Given the description of an element on the screen output the (x, y) to click on. 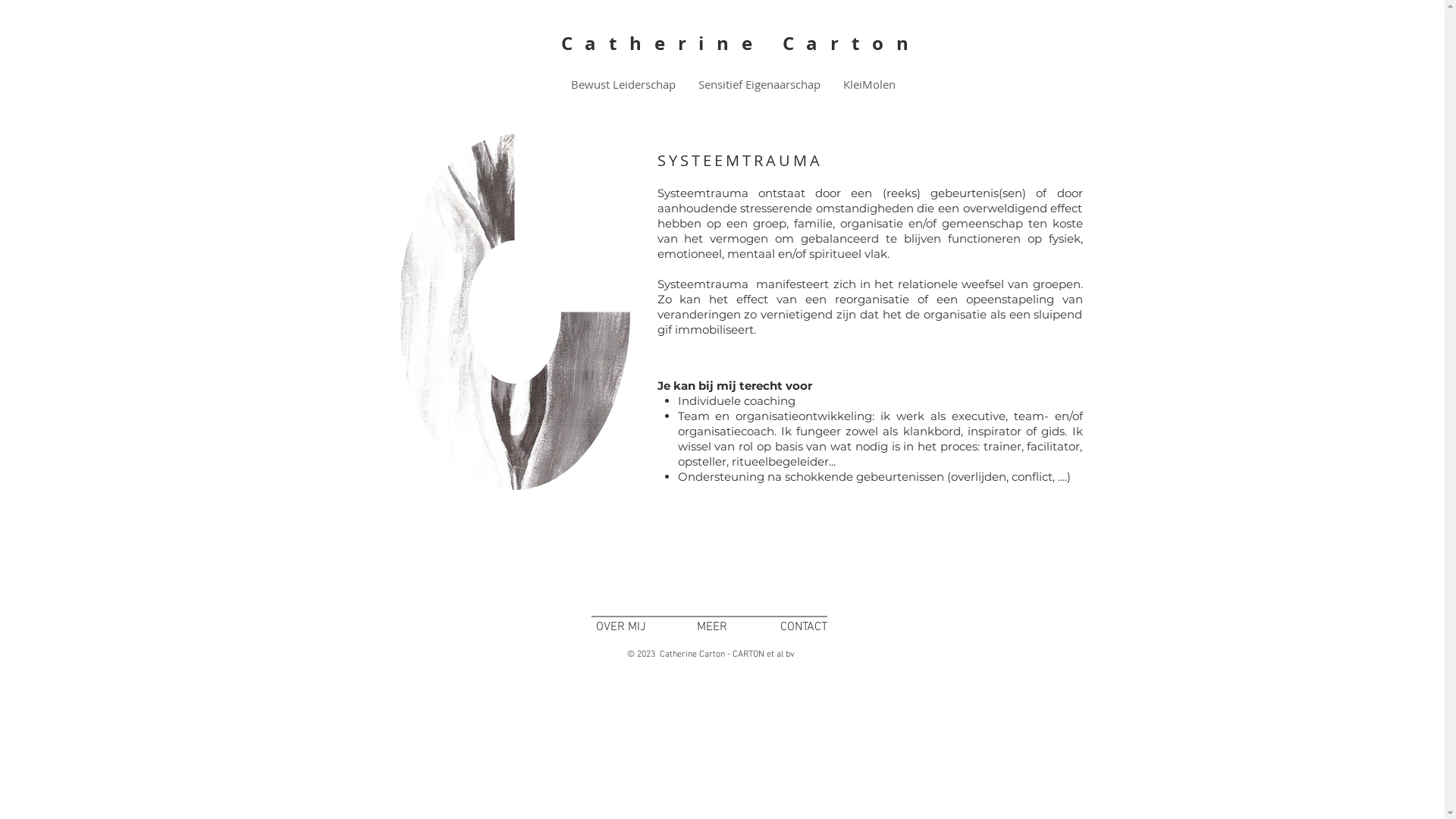
Sensitief Eigenaarschap Element type: text (759, 84)
MEER Element type: text (711, 626)
CONTACT Element type: text (802, 626)
Catherine Carton Element type: text (741, 43)
OVER MIJ Element type: text (620, 626)
Bewust Leiderschap Element type: text (623, 84)
KleiMolen Element type: text (868, 84)
